Given the description of an element on the screen output the (x, y) to click on. 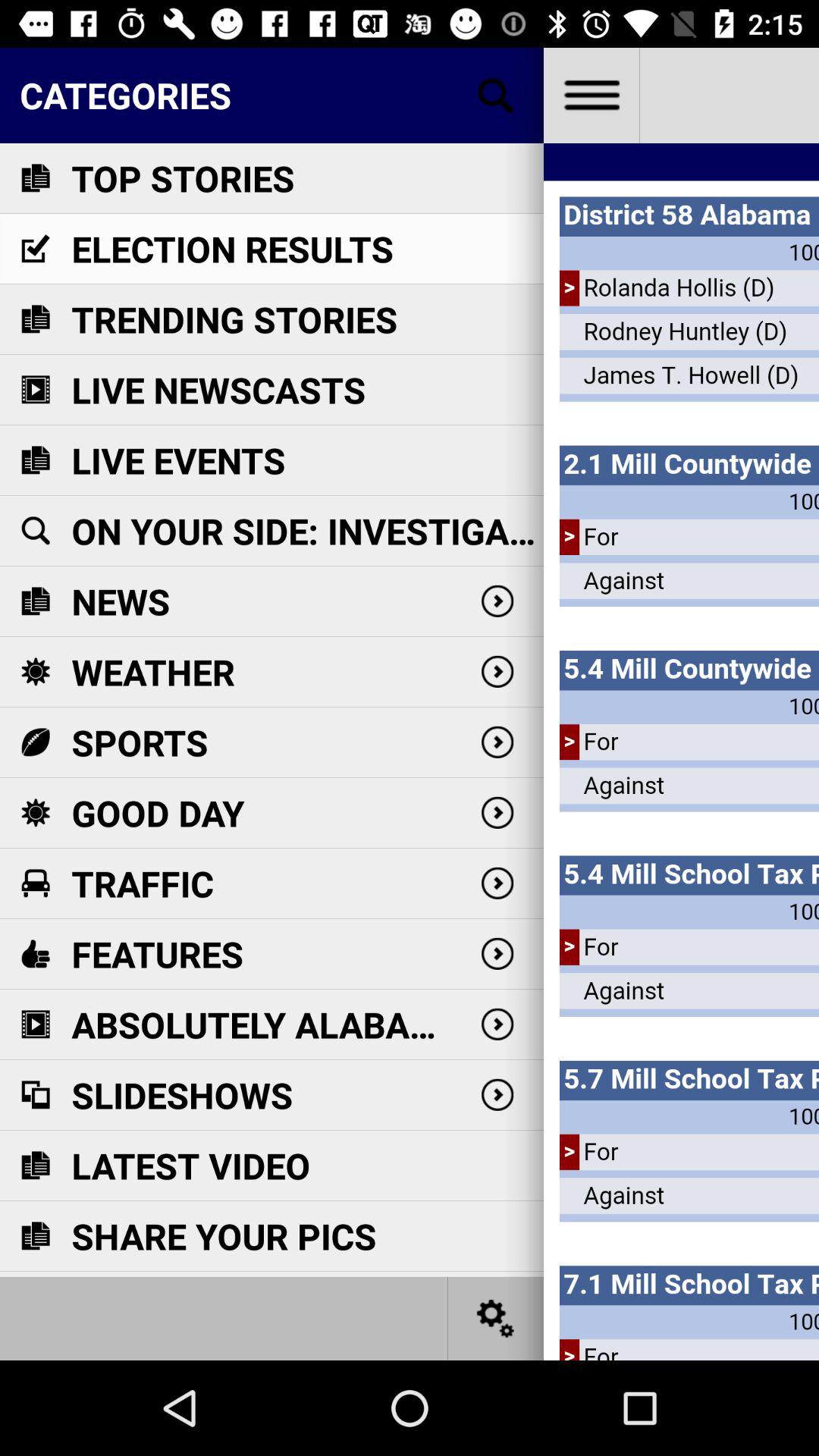
open settings (495, 1318)
